Given the description of an element on the screen output the (x, y) to click on. 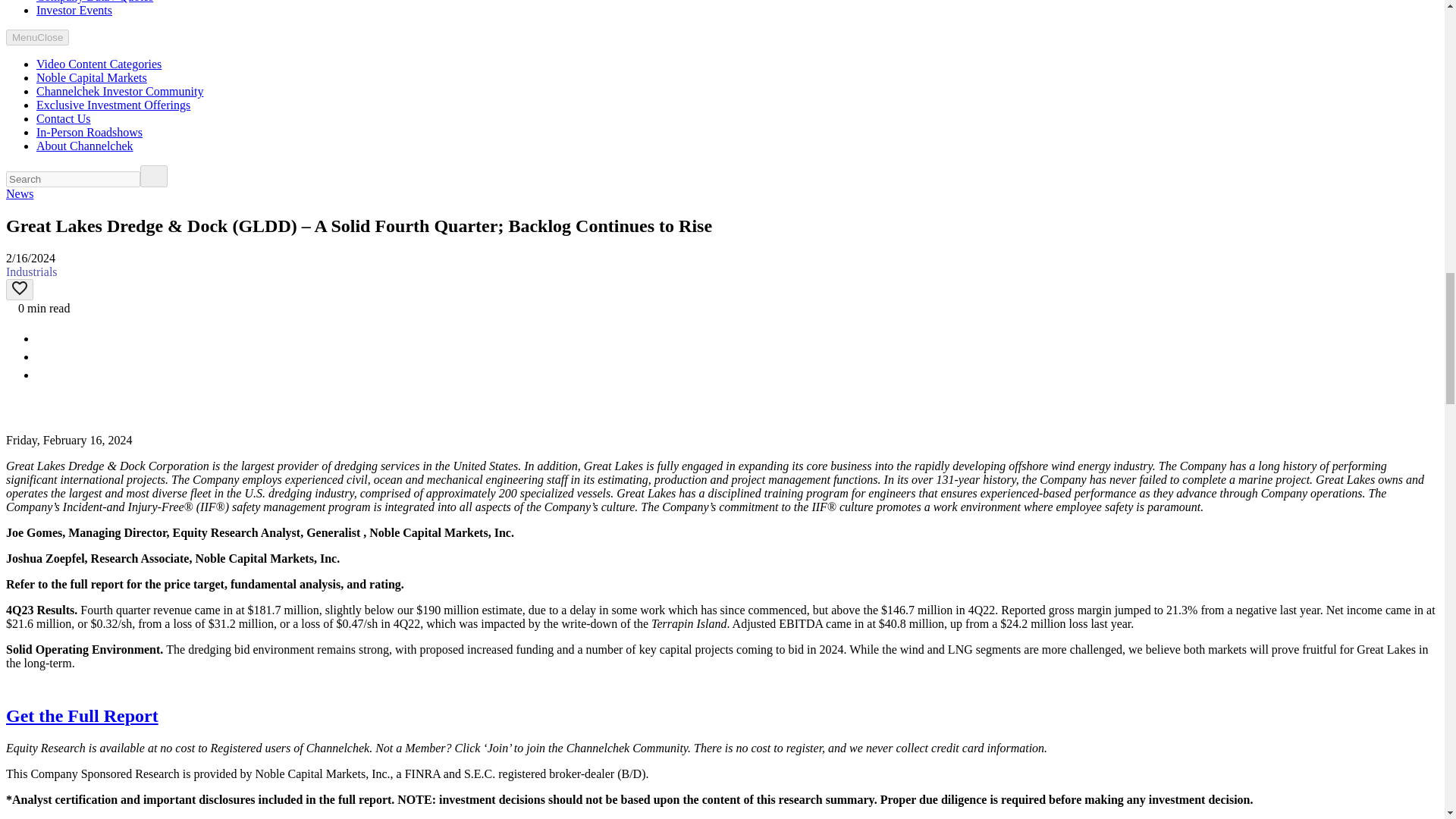
MenuClose (36, 37)
Exclusive Investment Offerings (113, 104)
News (19, 193)
In-Person Roadshows (89, 132)
Video Content Categories (98, 63)
Investor Events (74, 10)
Noble Capital Markets (91, 77)
Contact Us (63, 118)
About Channelchek (84, 145)
Channelchek Investor Community (119, 91)
